Given the description of an element on the screen output the (x, y) to click on. 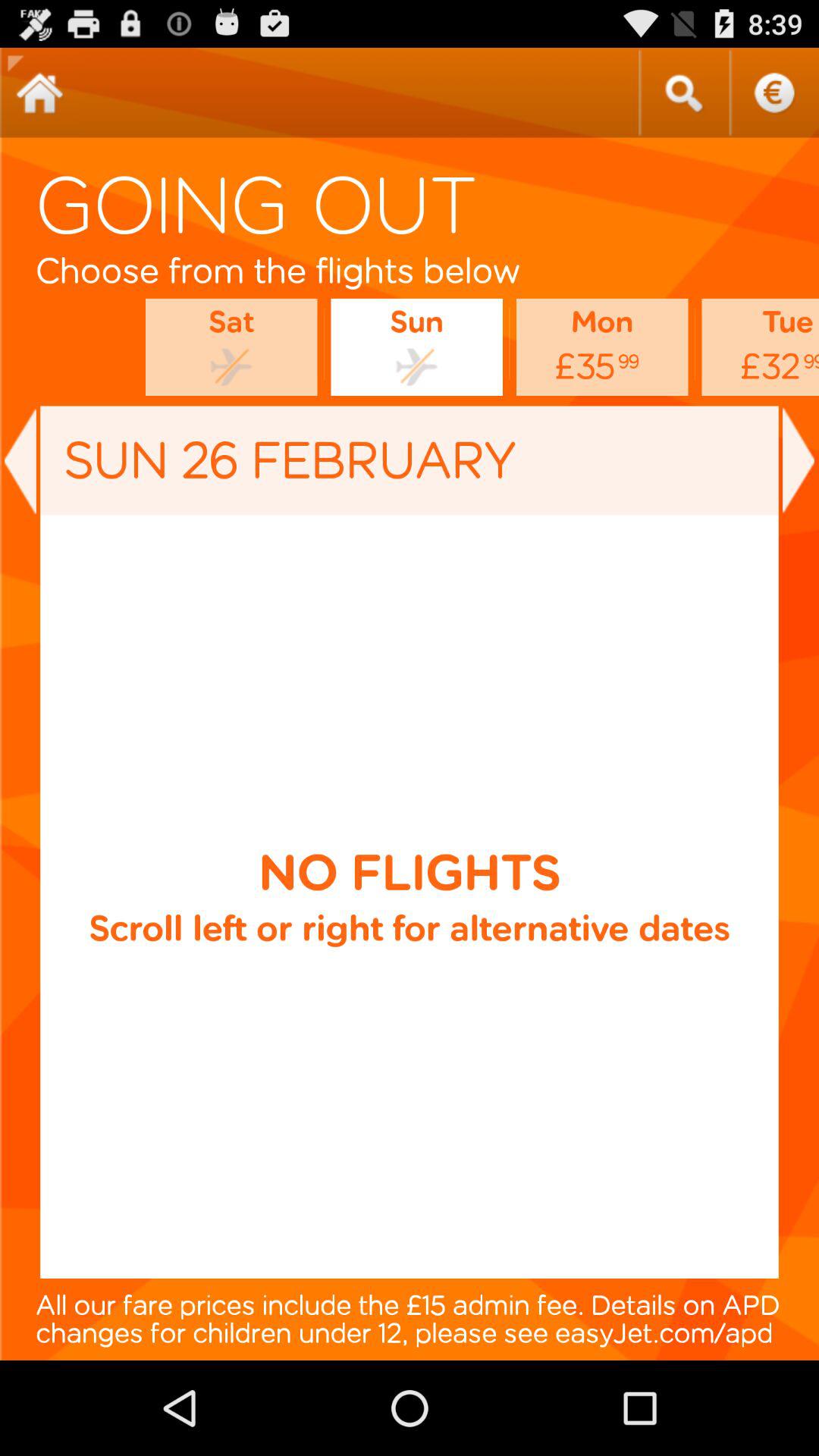
search flights (683, 92)
